Given the description of an element on the screen output the (x, y) to click on. 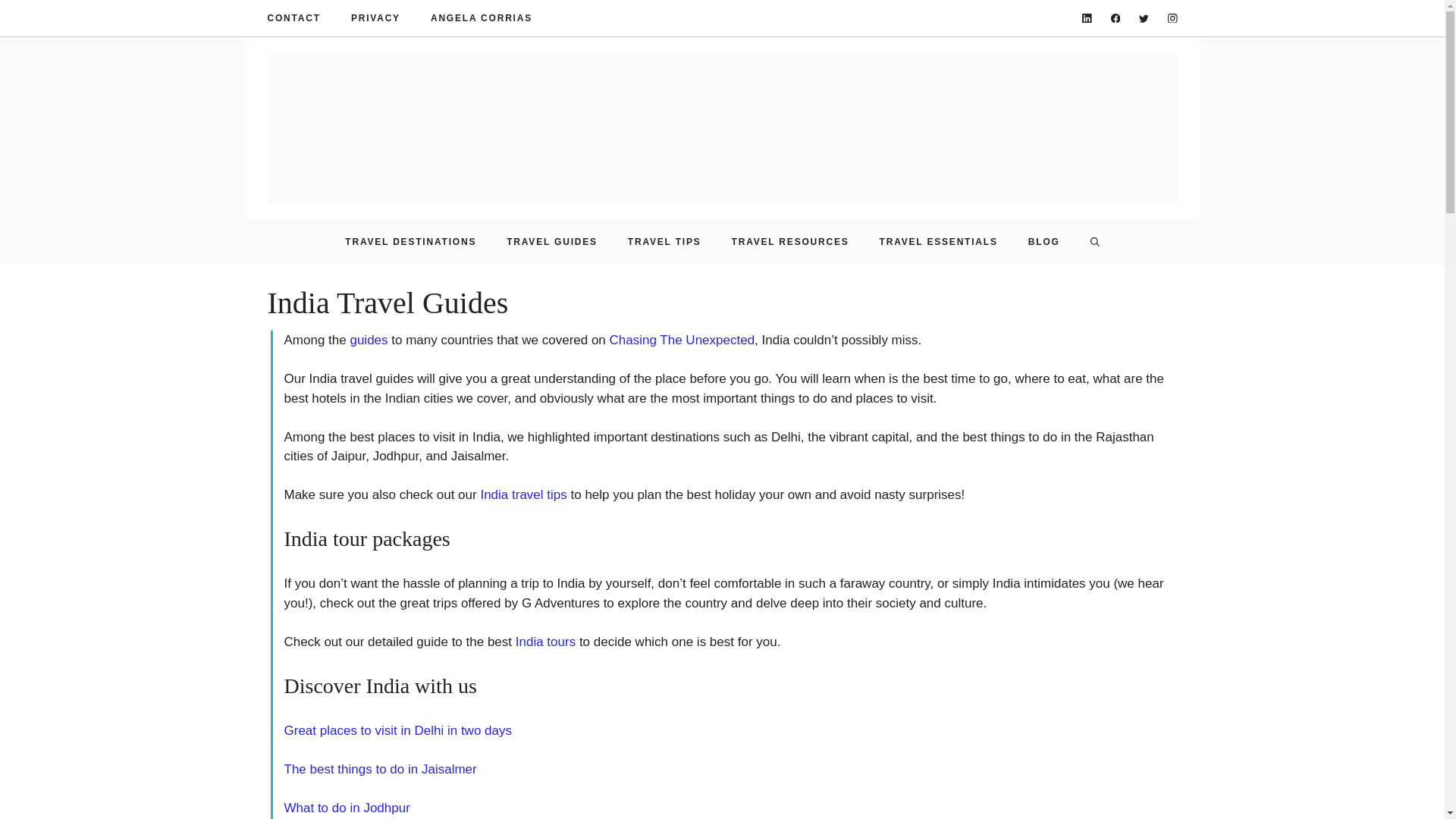
TRAVEL GUIDES (552, 241)
The best things to do in Jaisalmer (379, 769)
India travel tips (523, 494)
PRIVACY (375, 18)
Great places to visit in Delhi in two days (397, 730)
India tours (545, 641)
BLOG (1044, 241)
What to do in Jodhpur (346, 807)
guides (368, 339)
TRAVEL DESTINATIONS (411, 241)
